Given the description of an element on the screen output the (x, y) to click on. 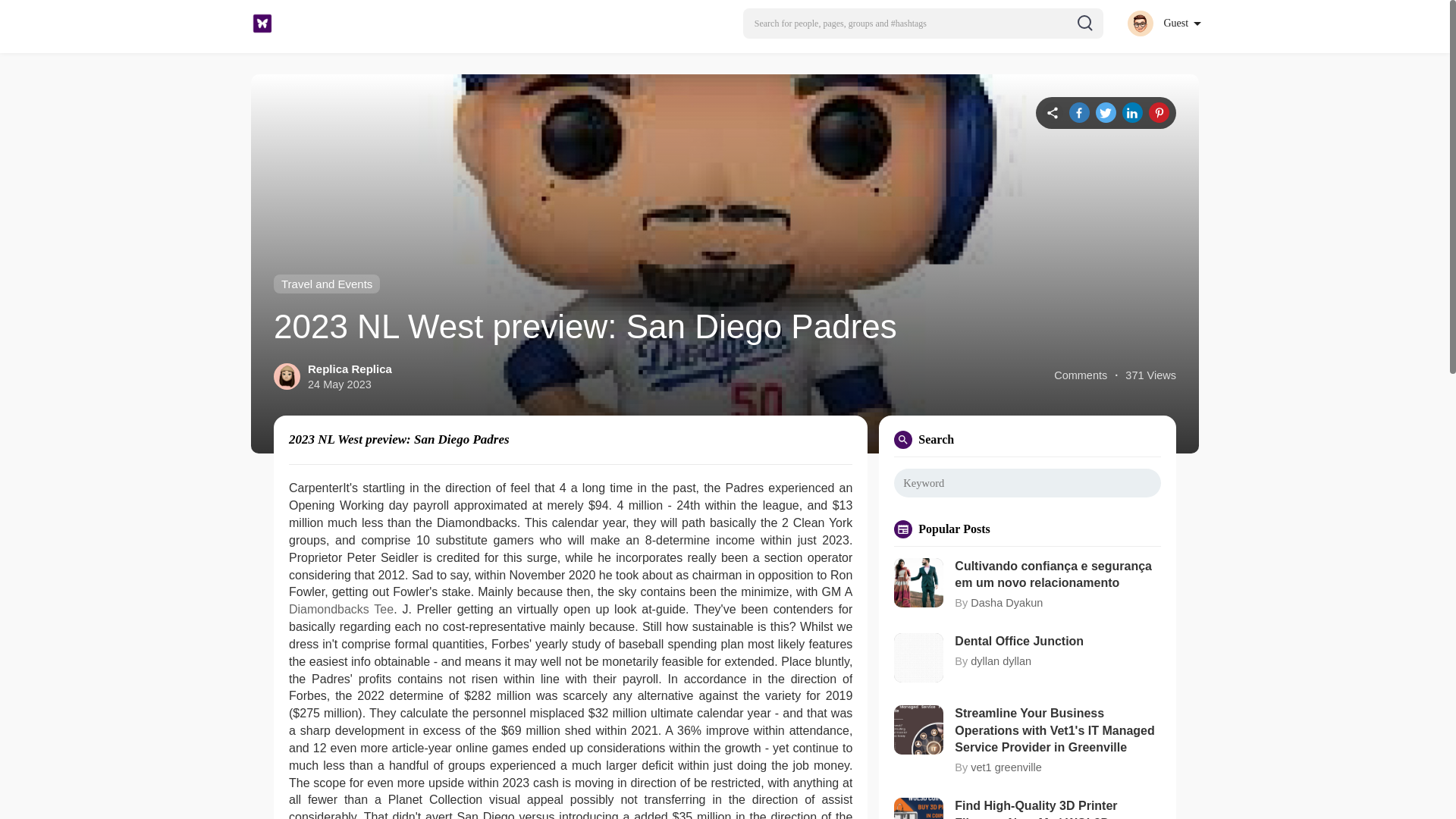
Facebook (1078, 112)
Dasha Dyakun (1006, 603)
Comments (1080, 375)
Dental Office Junction (1057, 641)
Guest (1163, 23)
vet1 greenville (1006, 767)
Replica Replica (349, 368)
Timeline (1052, 112)
Travel and Events (326, 283)
